Given the description of an element on the screen output the (x, y) to click on. 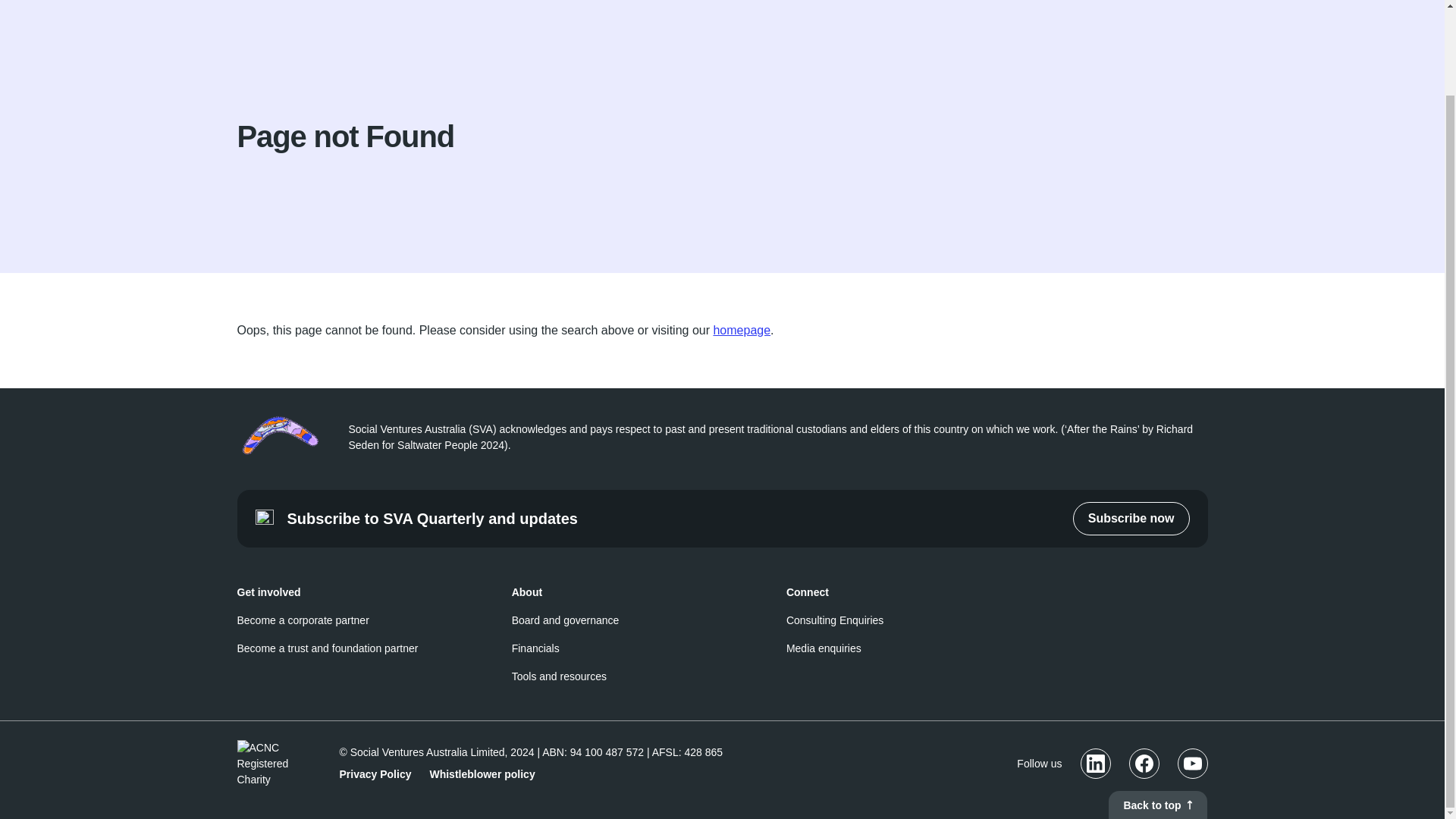
Become a trust and foundation partner (326, 648)
Media enquiries (823, 648)
homepage (741, 329)
Financials (535, 648)
Subscribe now (1131, 518)
Tools and resources (559, 676)
Consulting Enquiries (834, 620)
Become a corporate partner (301, 620)
Board and governance (566, 620)
